Given the description of an element on the screen output the (x, y) to click on. 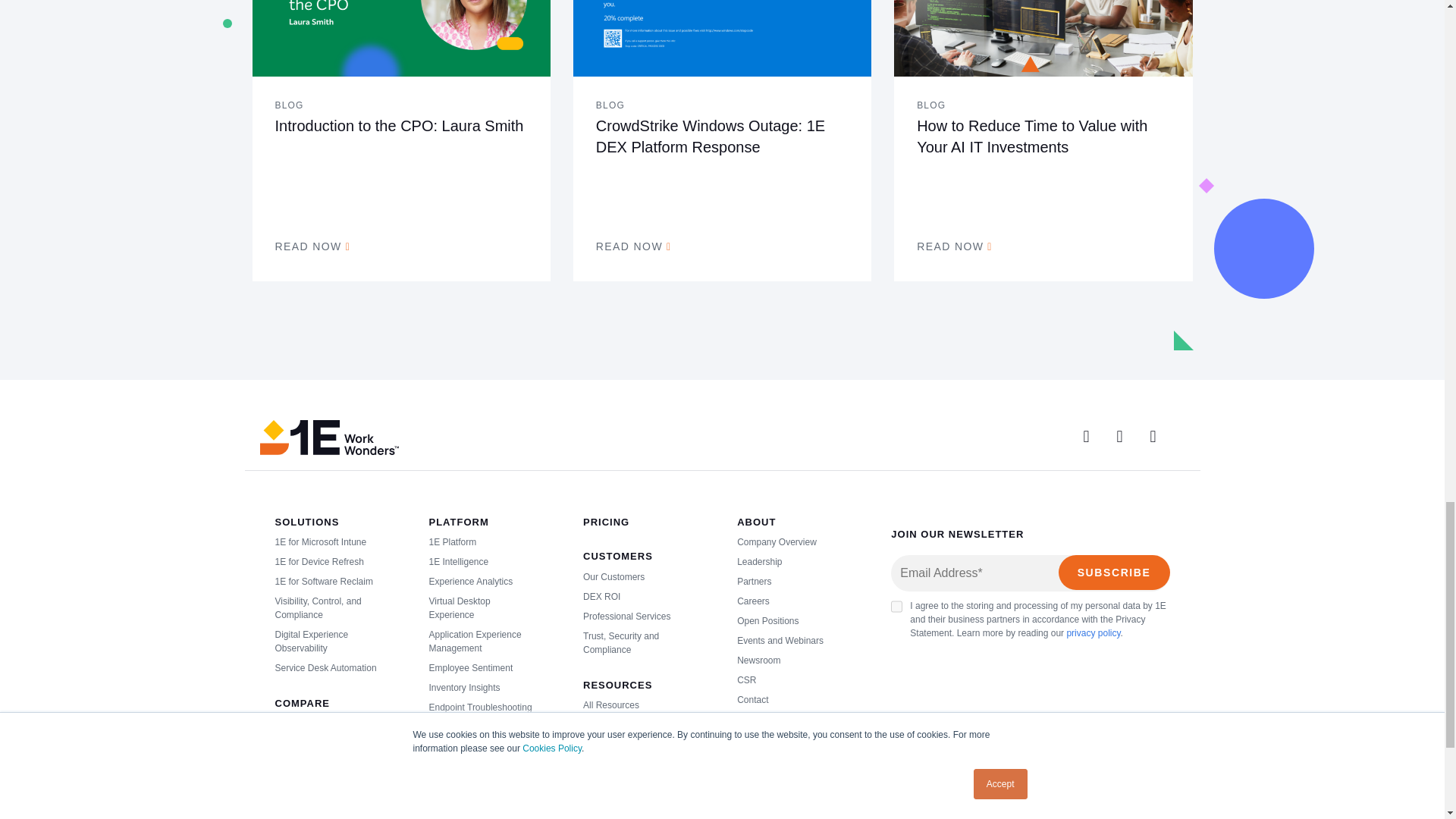
Blue Screen of Death (721, 38)
1E Logo (328, 437)
Laura Smith CPO (400, 38)
Subscribe (1114, 572)
Generic Blog Image-31 (1042, 38)
